Given the description of an element on the screen output the (x, y) to click on. 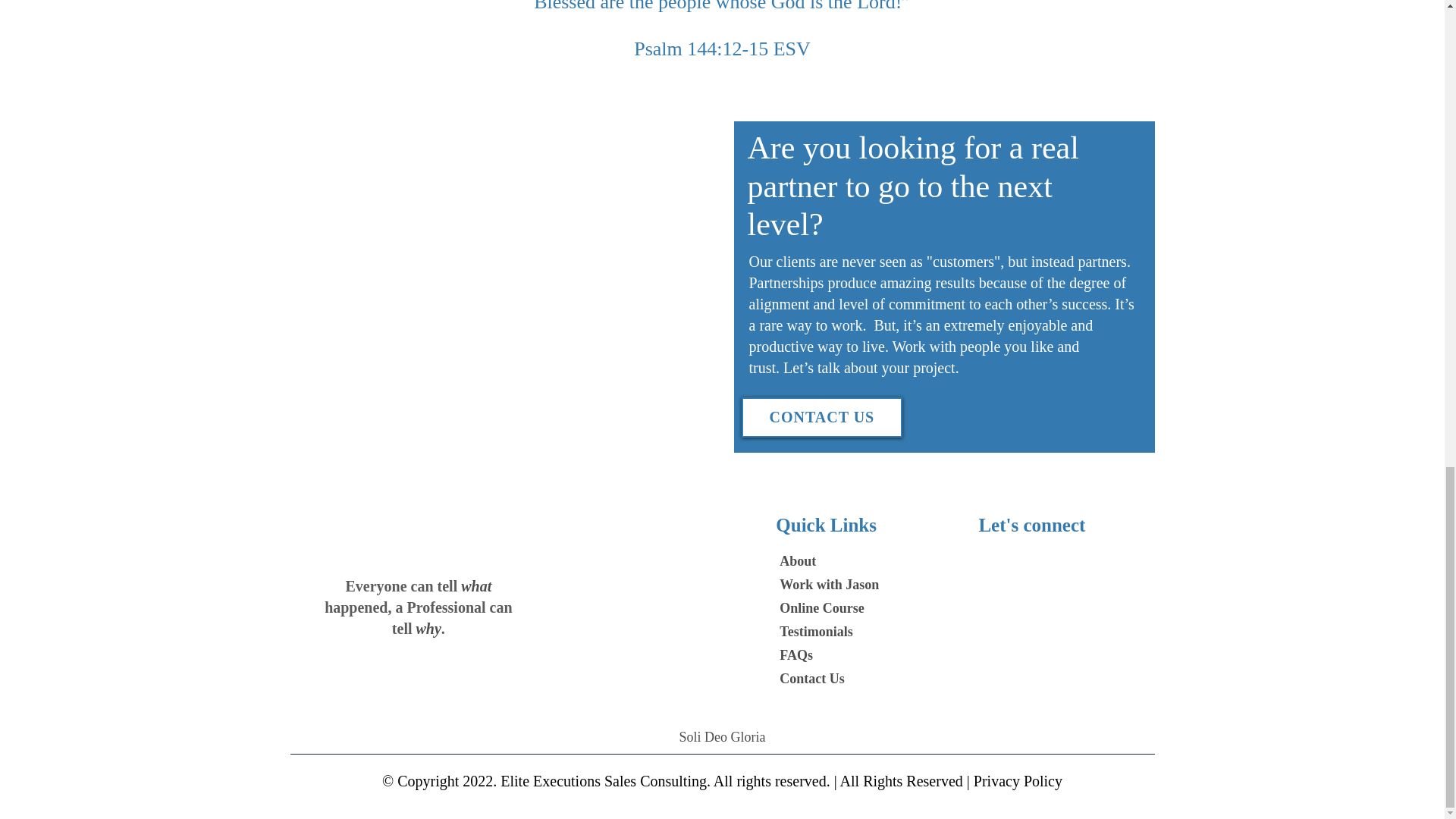
Testimonials (816, 631)
Online Course (821, 608)
FAQs (796, 655)
About (797, 561)
CONTACT US (821, 417)
Contact Us (812, 679)
Work with Jason (829, 585)
